Given the description of an element on the screen output the (x, y) to click on. 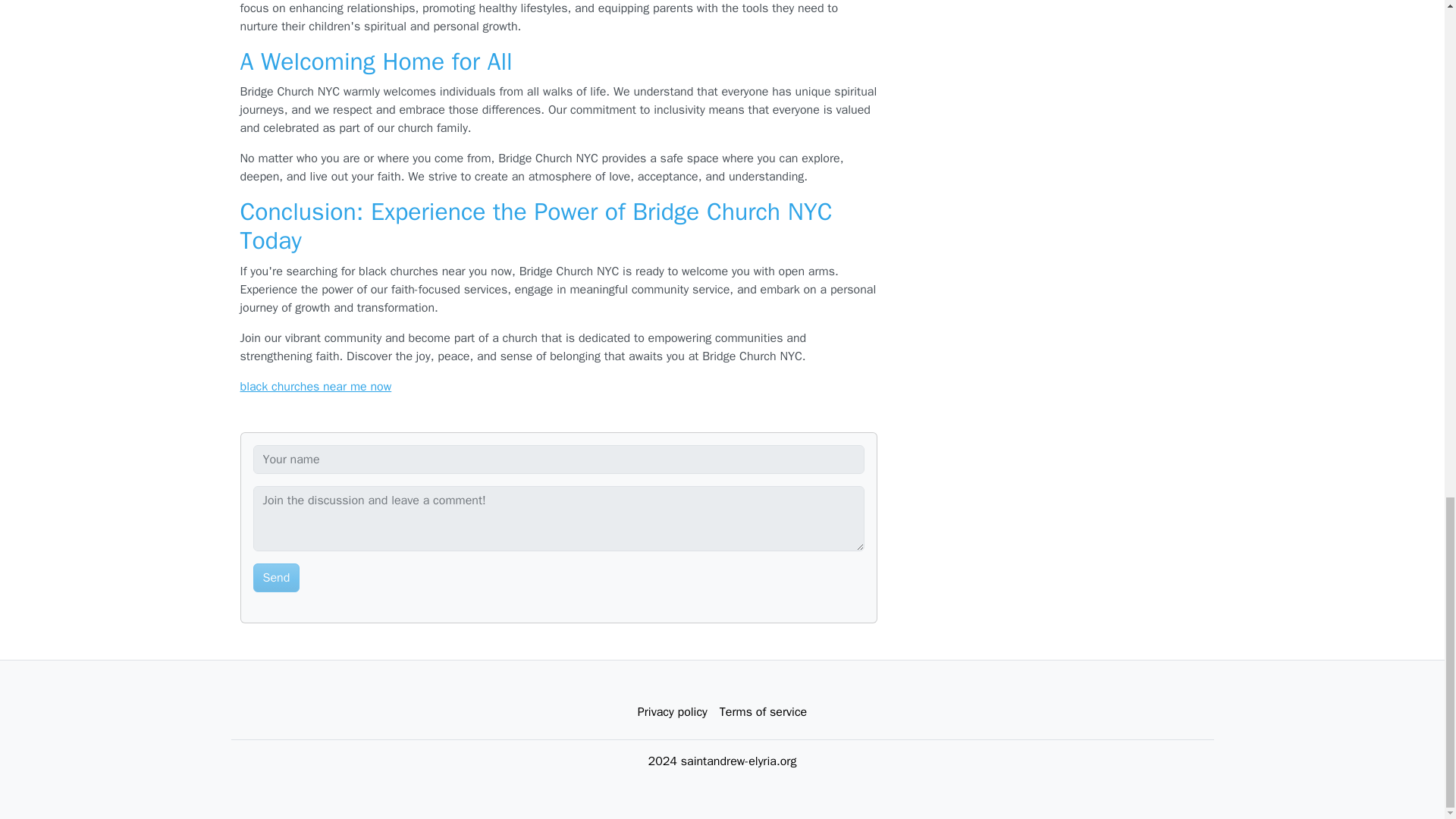
Send (276, 577)
black churches near me now (315, 386)
Privacy policy (672, 711)
Send (276, 577)
Terms of service (762, 711)
